Given the description of an element on the screen output the (x, y) to click on. 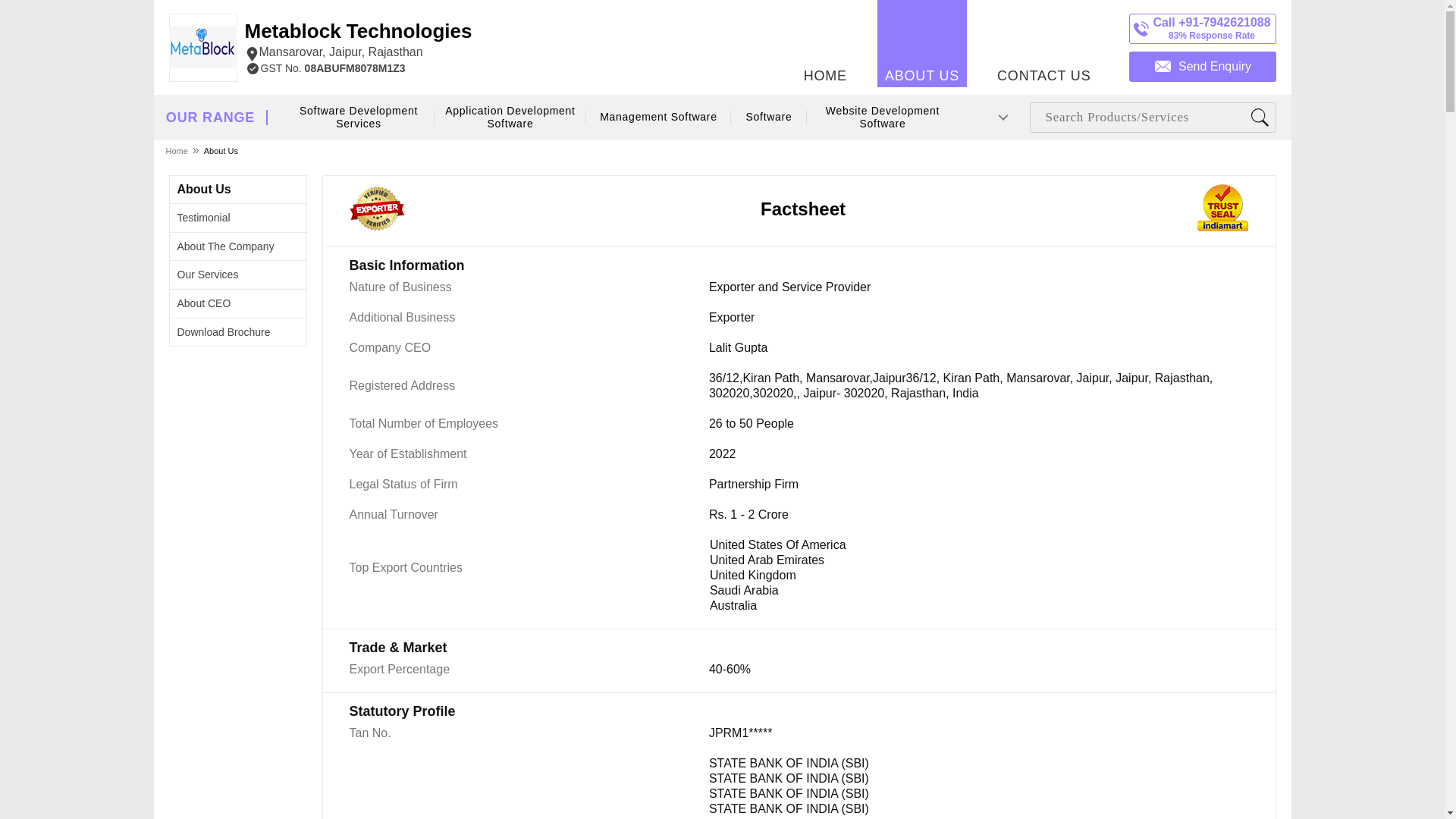
Website Development Software (882, 117)
About Us (220, 150)
About The Company (226, 246)
Application Development Software (357, 41)
Testimonial (510, 117)
Home (203, 217)
Our Services (176, 150)
OUR RANGE (207, 274)
Software Development Services (209, 117)
Software (358, 117)
About Us (768, 117)
CONTACT US (204, 188)
Download Brochure (1043, 43)
Management Software (223, 331)
